Given the description of an element on the screen output the (x, y) to click on. 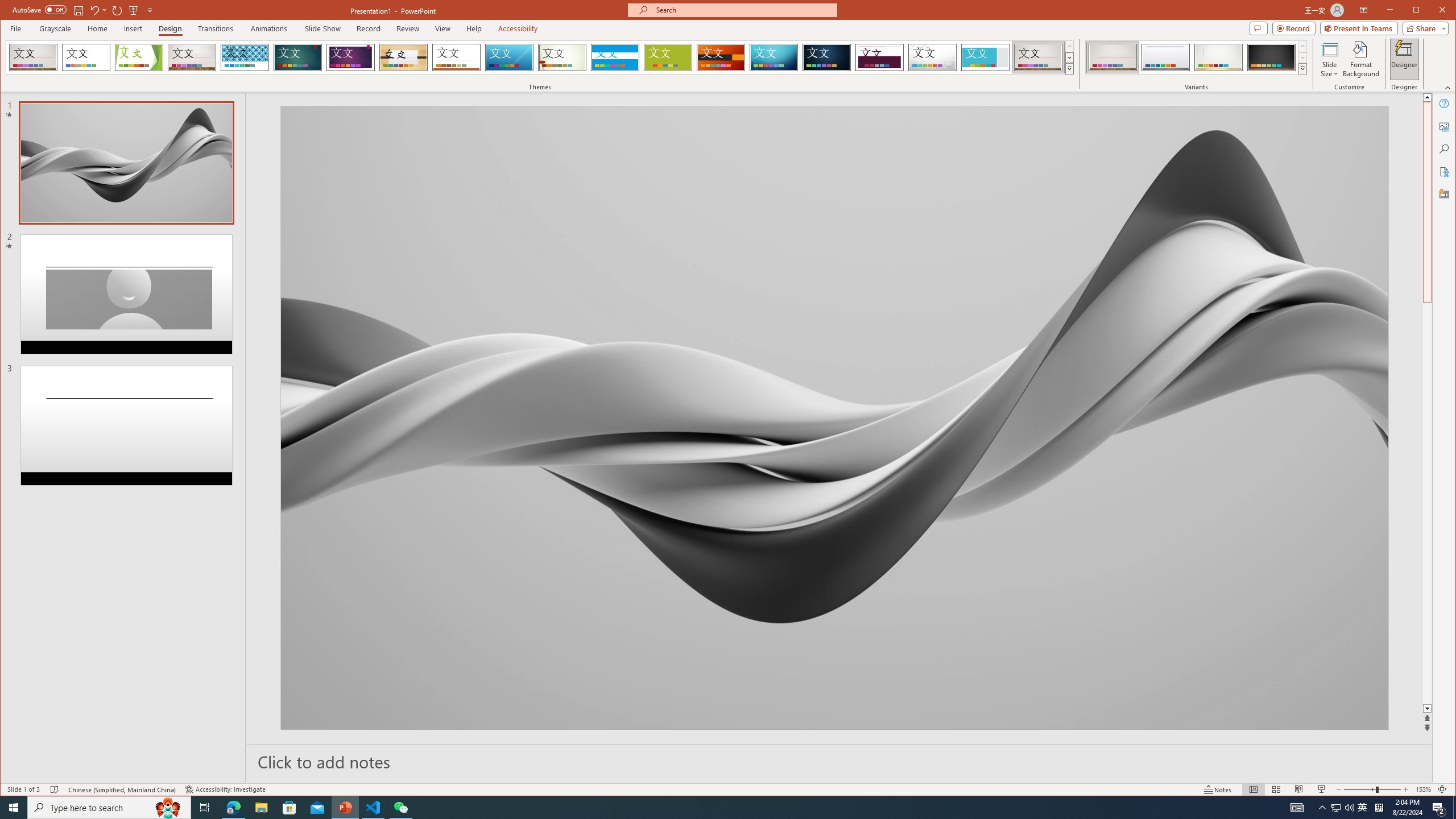
Ion Boardroom (350, 57)
Themes (1069, 68)
Facet (138, 57)
Slide Size (1328, 59)
